Given the description of an element on the screen output the (x, y) to click on. 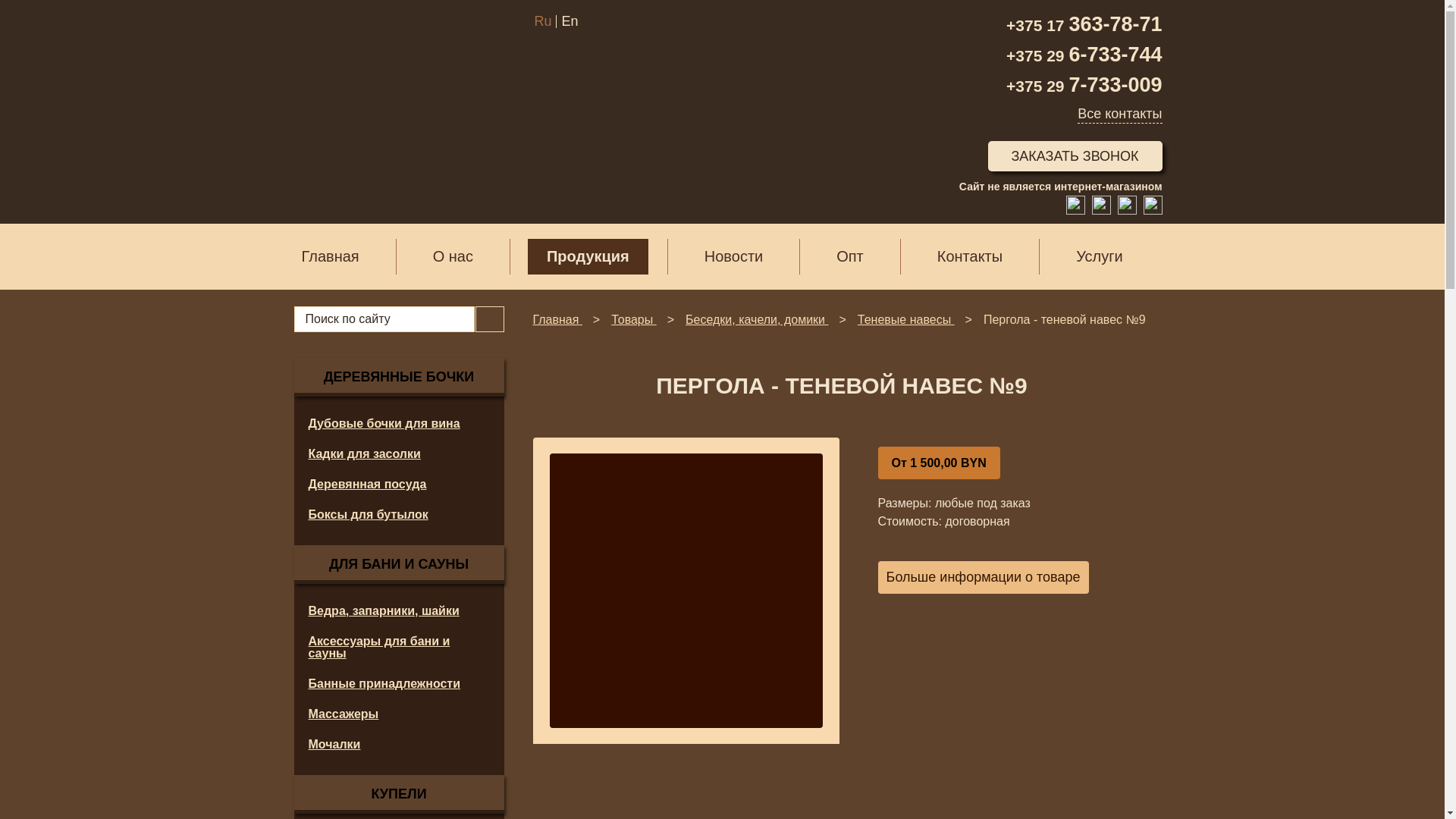
+375 17 363-78-71 Element type: text (1083, 25)
+375 29 6-733-744 Element type: text (1083, 55)
+375 29 7-733-009 Element type: text (1083, 85)
